Given the description of an element on the screen output the (x, y) to click on. 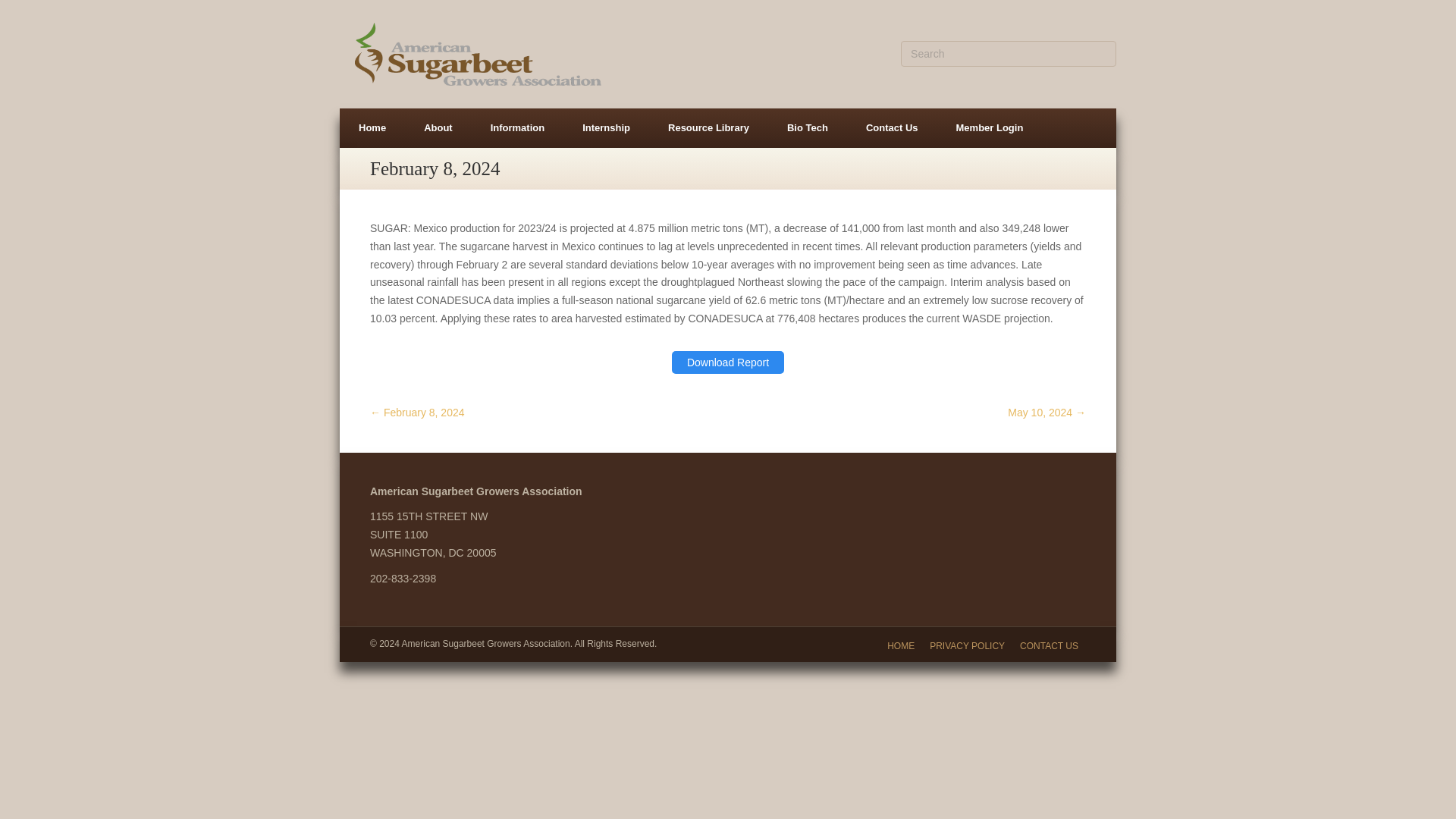
HOME (900, 645)
Type and press Enter to search. (1008, 53)
About (437, 128)
WASDE February 8, 2024 (727, 362)
Member Login (989, 128)
Contact Us (892, 128)
Internship (606, 128)
Download Report (727, 362)
Home (371, 128)
large (478, 53)
Bio Tech (807, 128)
Information (517, 128)
Resource Library (708, 128)
